Given the description of an element on the screen output the (x, y) to click on. 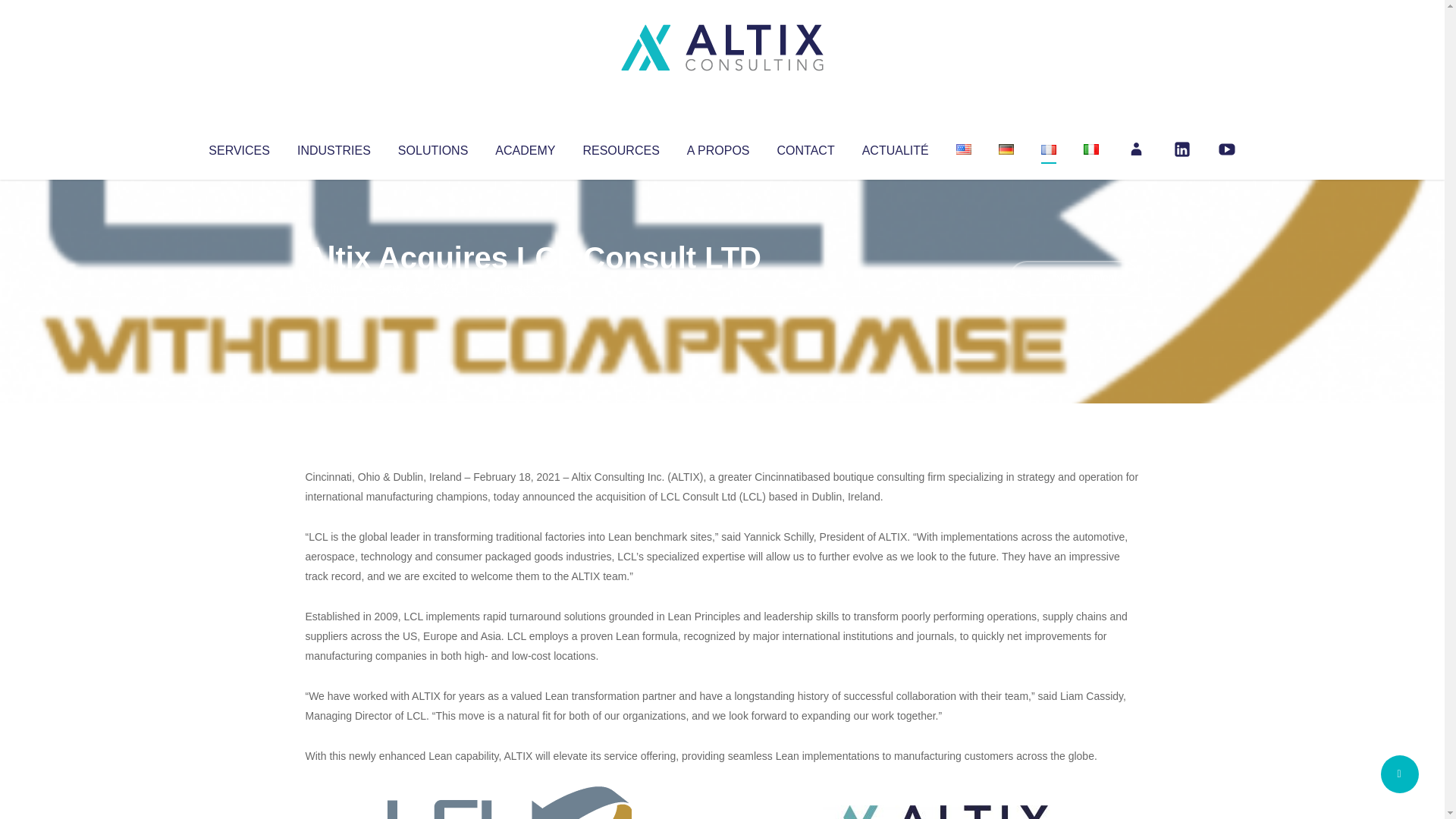
Altix (333, 287)
SERVICES (238, 146)
Uncategorized (530, 287)
RESOURCES (620, 146)
ACADEMY (524, 146)
No Comments (1073, 278)
Articles par Altix (333, 287)
INDUSTRIES (334, 146)
SOLUTIONS (432, 146)
A PROPOS (718, 146)
